Given the description of an element on the screen output the (x, y) to click on. 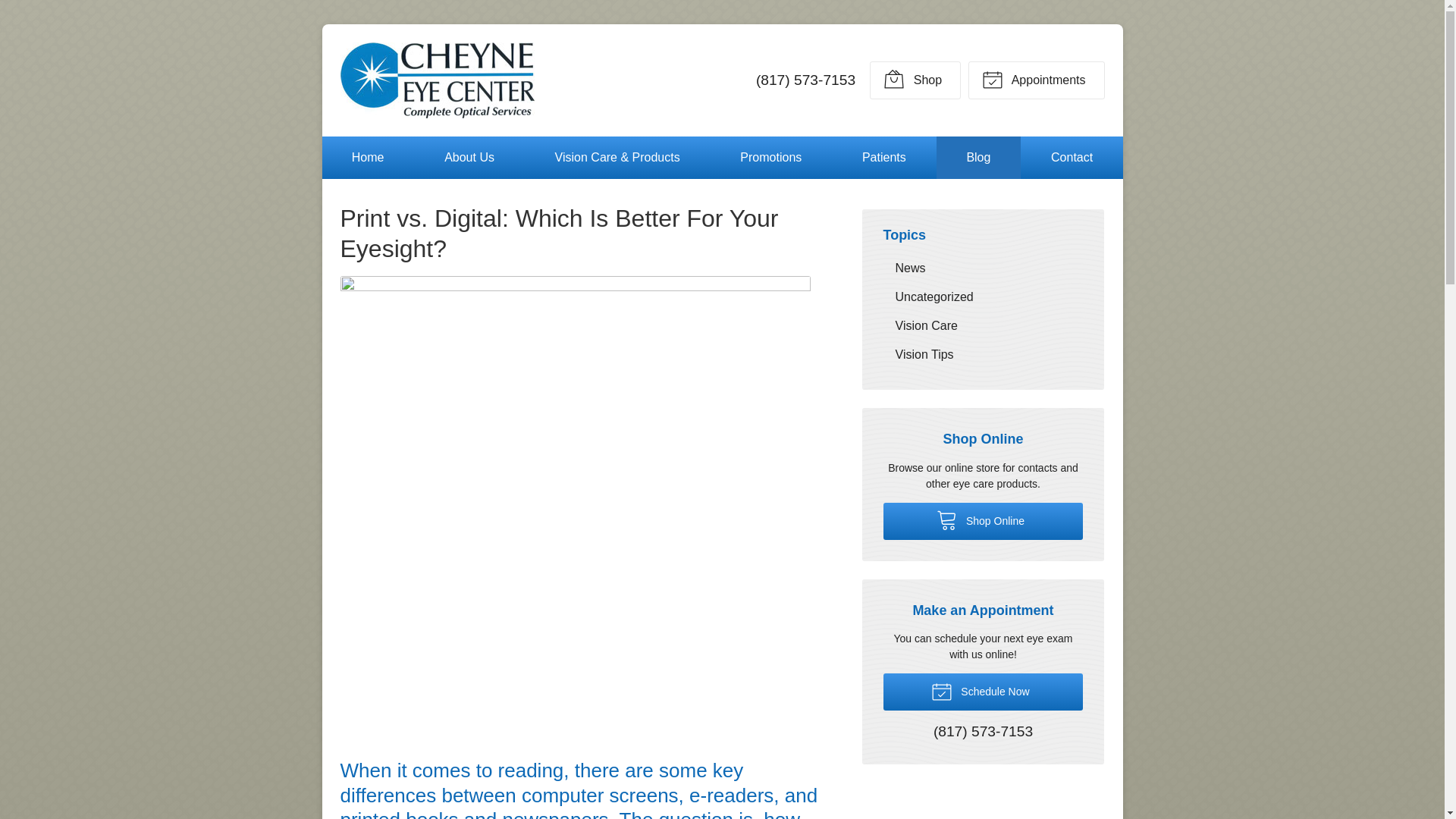
Uncategorized (982, 296)
Contact (1072, 157)
Appointments (1035, 80)
About Us (469, 157)
News (982, 267)
Shop Online (982, 520)
Schedule Now (982, 691)
Shop Online (982, 520)
Shop Online (914, 80)
Call practice (805, 79)
